Given the description of an element on the screen output the (x, y) to click on. 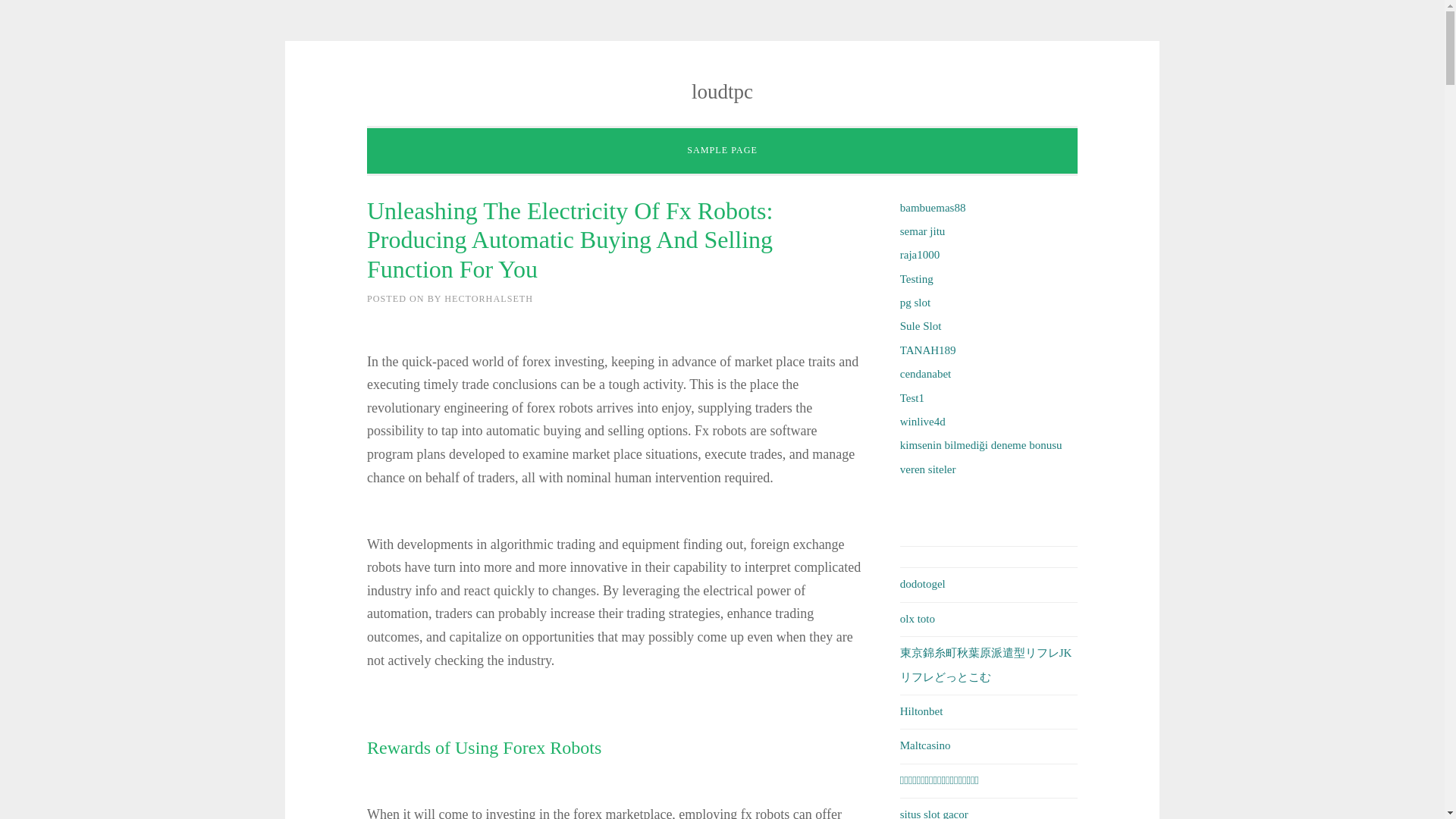
Test1 (911, 397)
bambuemas88 (932, 207)
Maltcasino (924, 745)
winlive4d (921, 421)
pg slot (914, 302)
HECTORHALSETH (488, 298)
loudtpc (721, 91)
dodotogel (921, 583)
SAMPLE PAGE (721, 150)
Testing (916, 278)
